Given the description of an element on the screen output the (x, y) to click on. 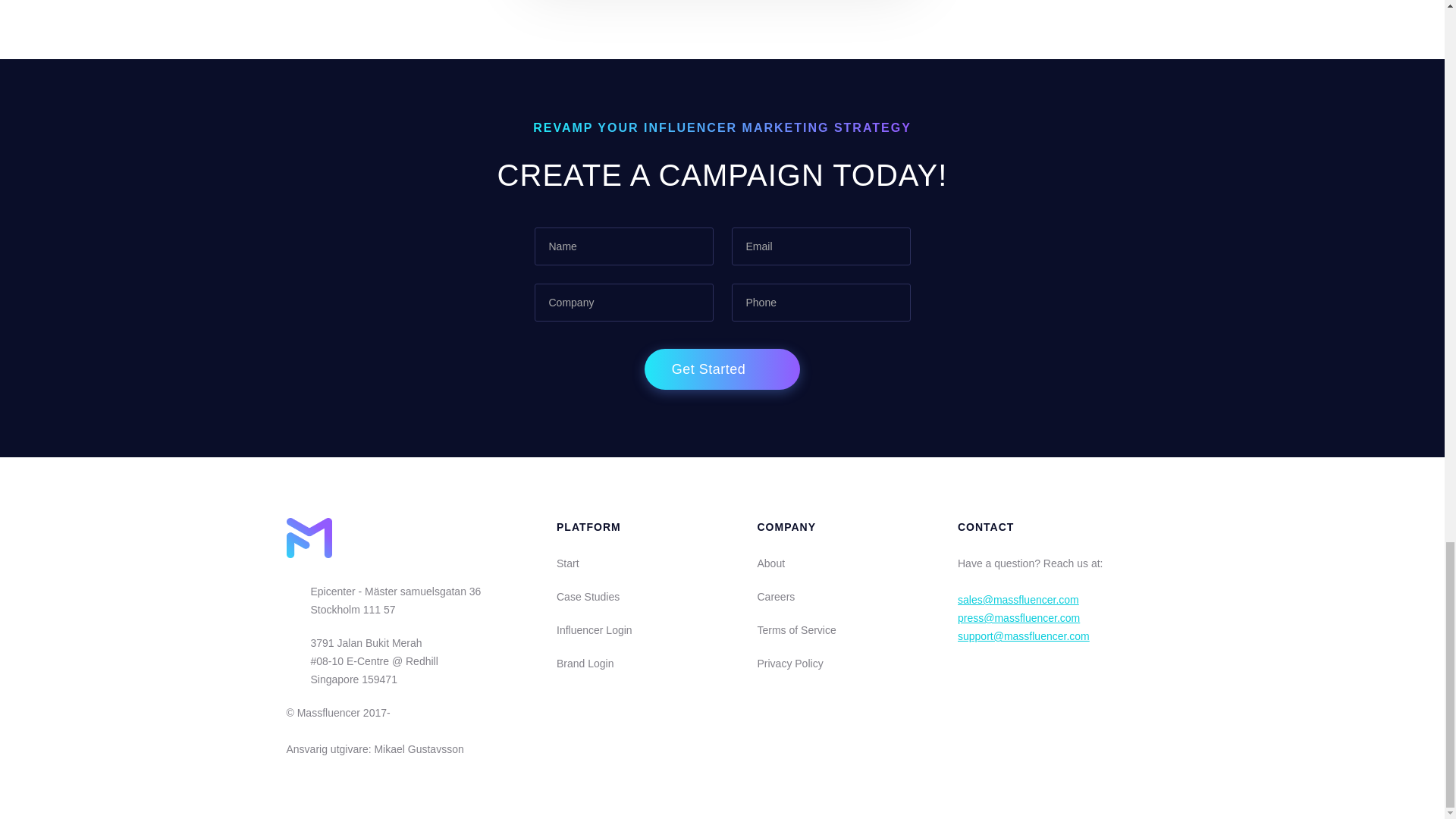
Privacy Policy (789, 663)
Terms of Service (796, 629)
Case Studies (588, 597)
About (770, 563)
Influencer Login (593, 629)
Start (567, 563)
Careers (775, 597)
Get Started (722, 368)
Brand Login (585, 663)
